Given the description of an element on the screen output the (x, y) to click on. 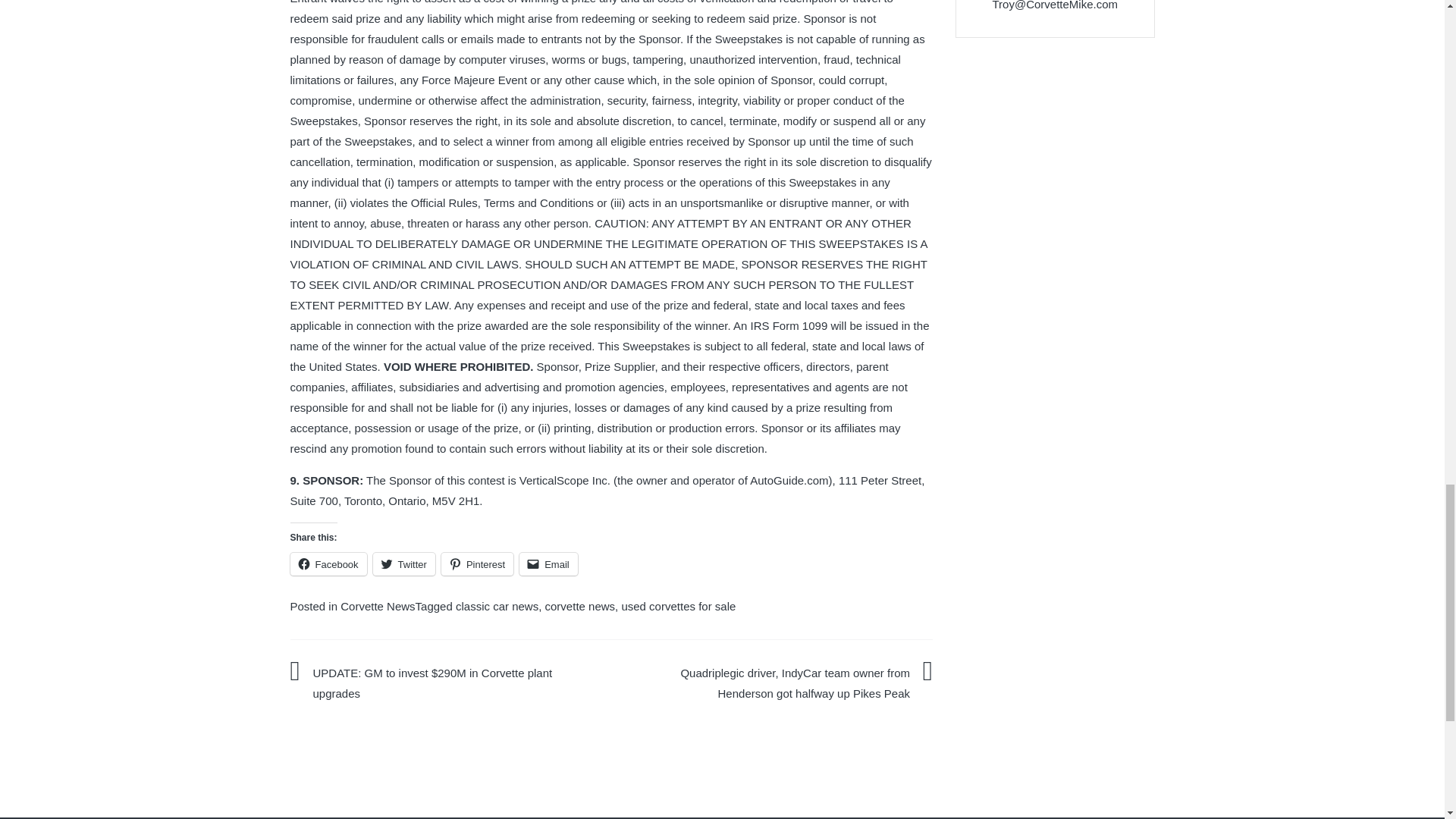
Twitter (403, 563)
corvette news (579, 605)
Email (548, 563)
Click to share on Twitter (403, 563)
Click to share on Pinterest (477, 563)
classic car news (496, 605)
Corvette News (377, 605)
used corvettes for sale (678, 605)
Pinterest (477, 563)
Click to email a link to a friend (548, 563)
Click to share on Facebook (327, 563)
Facebook (327, 563)
